Given the description of an element on the screen output the (x, y) to click on. 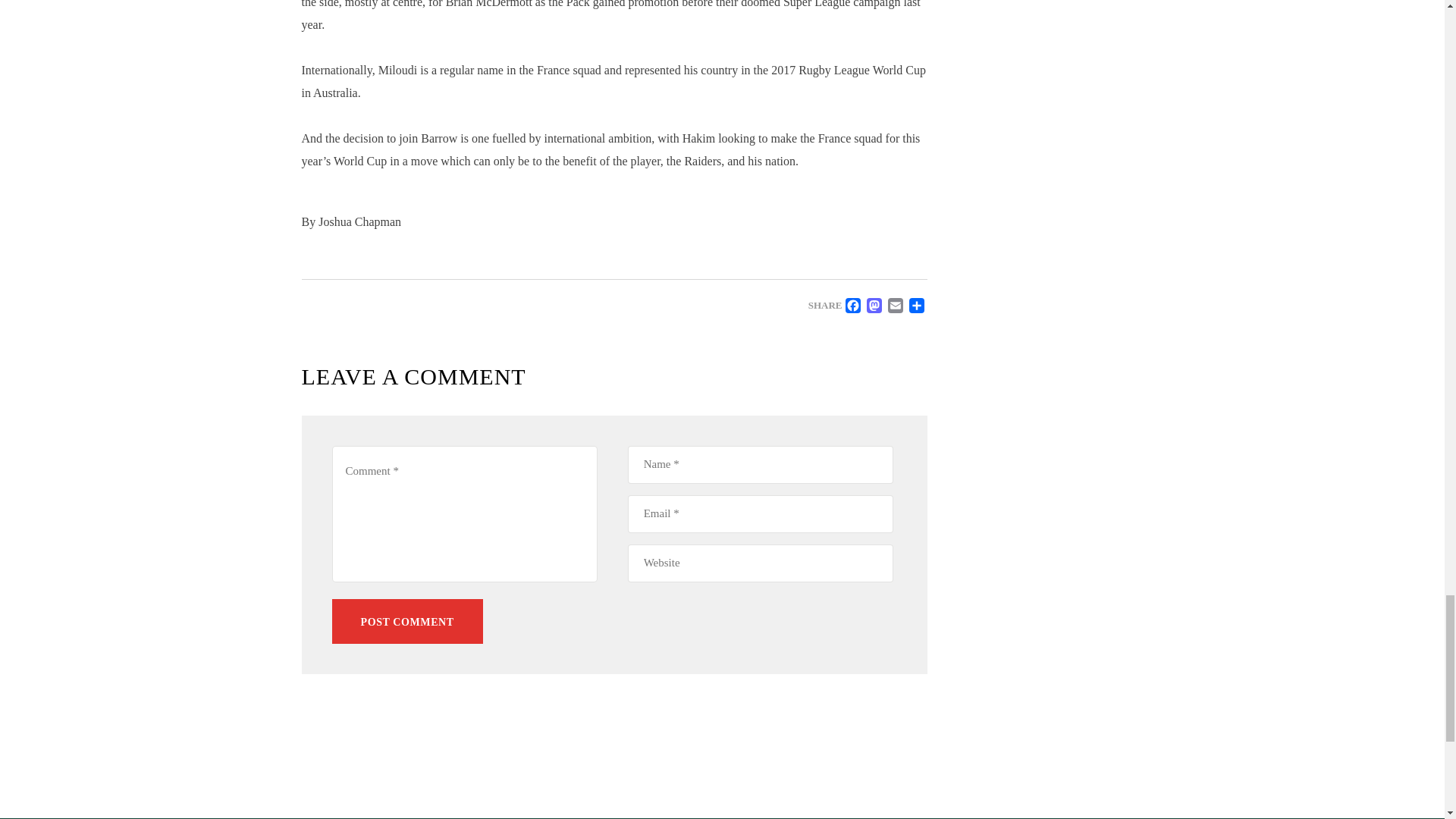
Facebook (852, 305)
Email (894, 305)
Mastodon (873, 305)
Post Comment (407, 621)
